Given the description of an element on the screen output the (x, y) to click on. 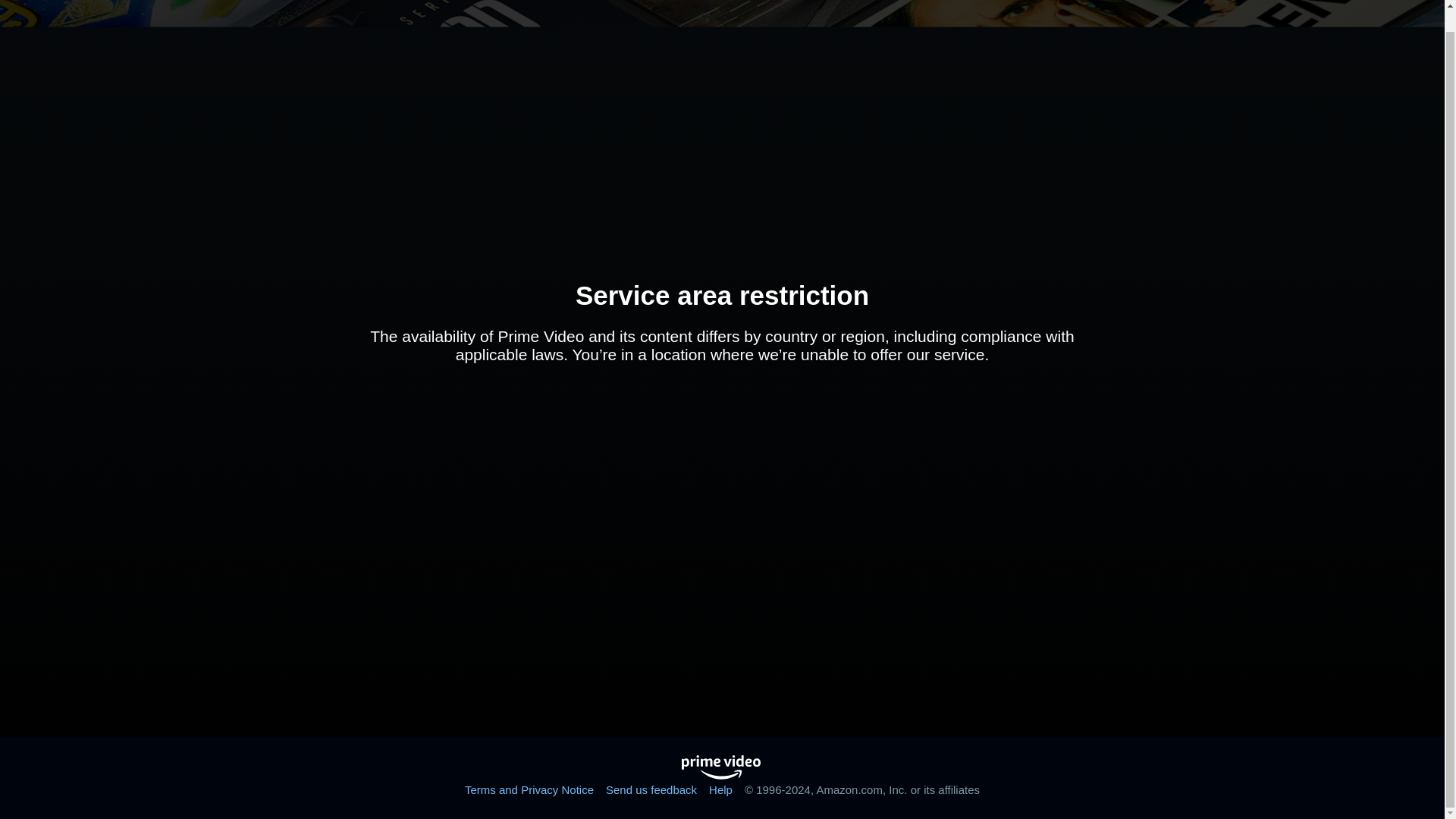
Terms and Privacy Notice (529, 789)
Send us feedback (651, 789)
Help (720, 789)
